Given the description of an element on the screen output the (x, y) to click on. 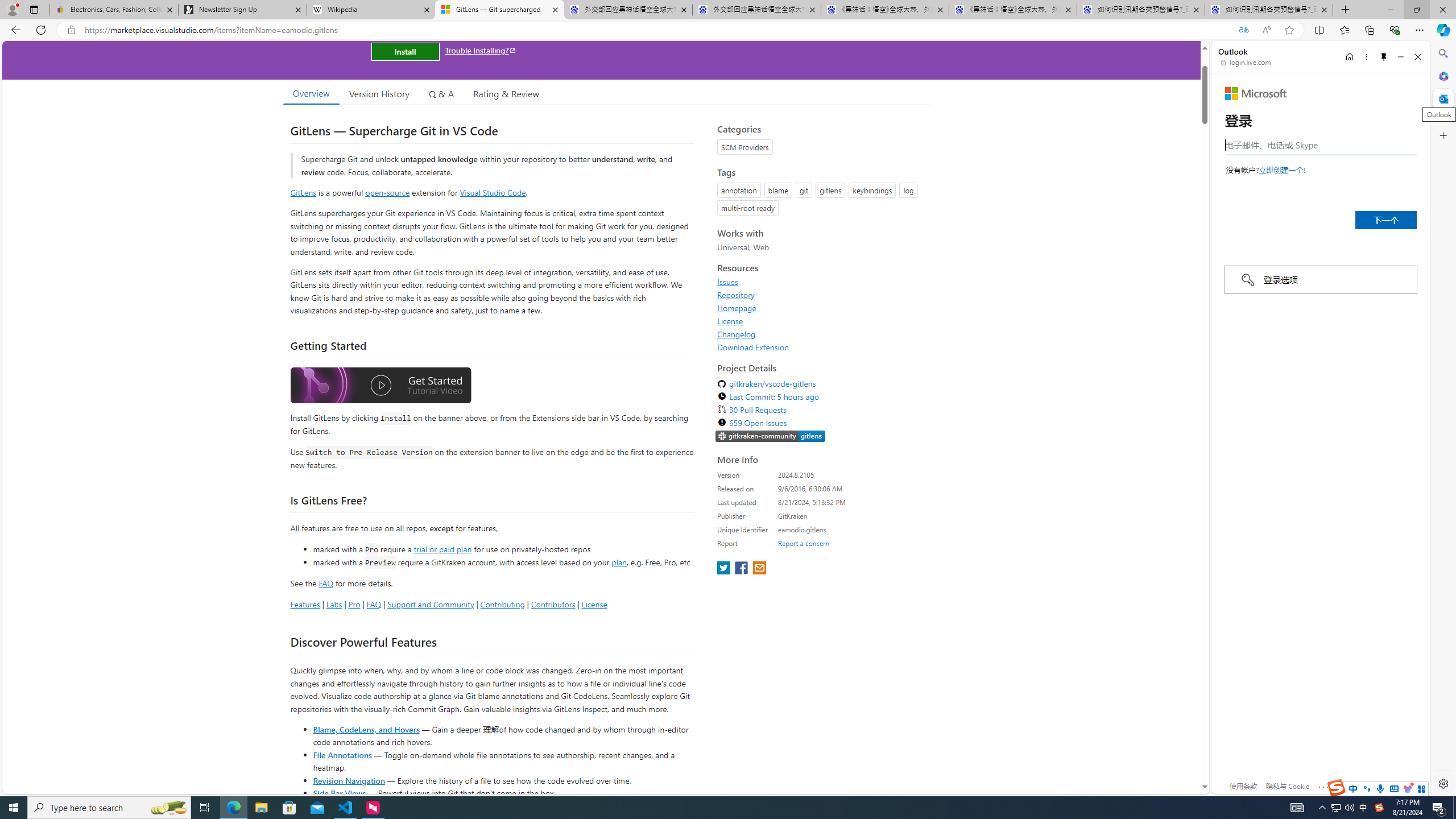
https://slack.gitkraken.com// (769, 436)
Download Extension (820, 346)
Newsletter Sign Up (242, 9)
Microsoft (1255, 93)
Repository (820, 294)
